Given the description of an element on the screen output the (x, y) to click on. 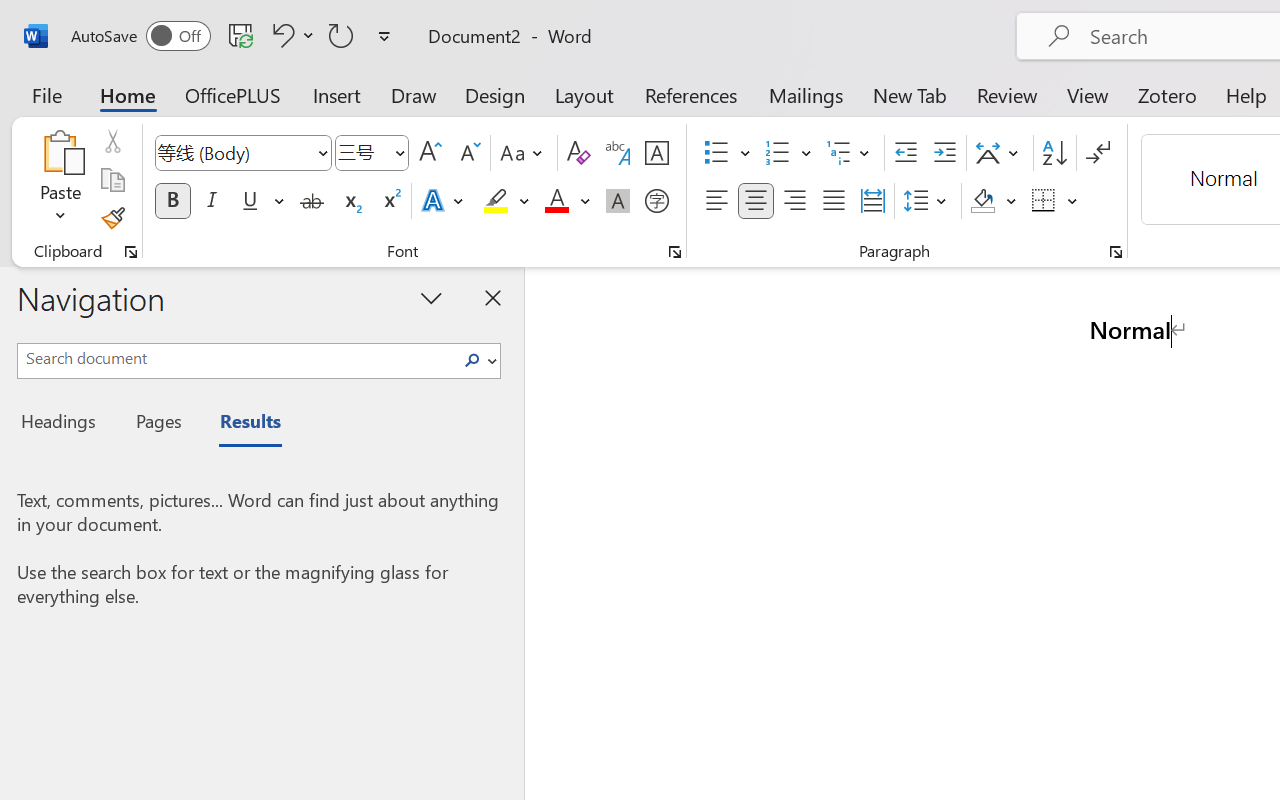
Mailings (806, 94)
Superscript (390, 201)
Shrink Font (468, 153)
Borders (1044, 201)
Borders (1055, 201)
AutoSave (140, 35)
Bullets (716, 153)
Font Size (372, 153)
Italic (212, 201)
Increase Indent (944, 153)
New Tab (909, 94)
Font (242, 153)
Multilevel List (850, 153)
Sort... (1054, 153)
Paste (60, 151)
